Given the description of an element on the screen output the (x, y) to click on. 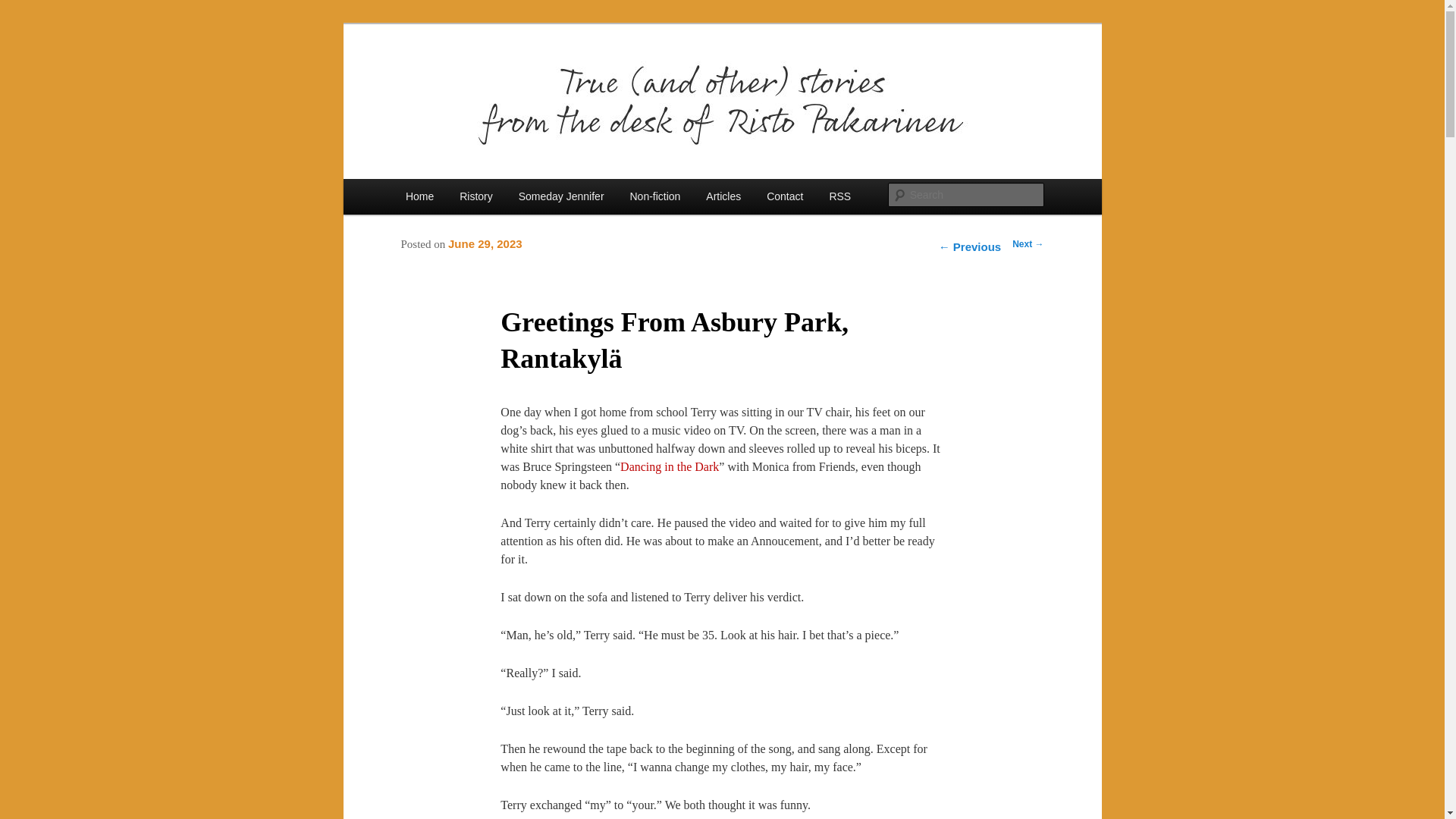
Dancing in the Dark (669, 466)
Search (24, 8)
10:18 pm (485, 244)
Home (419, 196)
Someday Jennifer (561, 196)
Ristory (475, 196)
RSS (839, 196)
From The Desk of Risto Pakarinen (585, 78)
June 29, 2023 (485, 244)
